Given the description of an element on the screen output the (x, y) to click on. 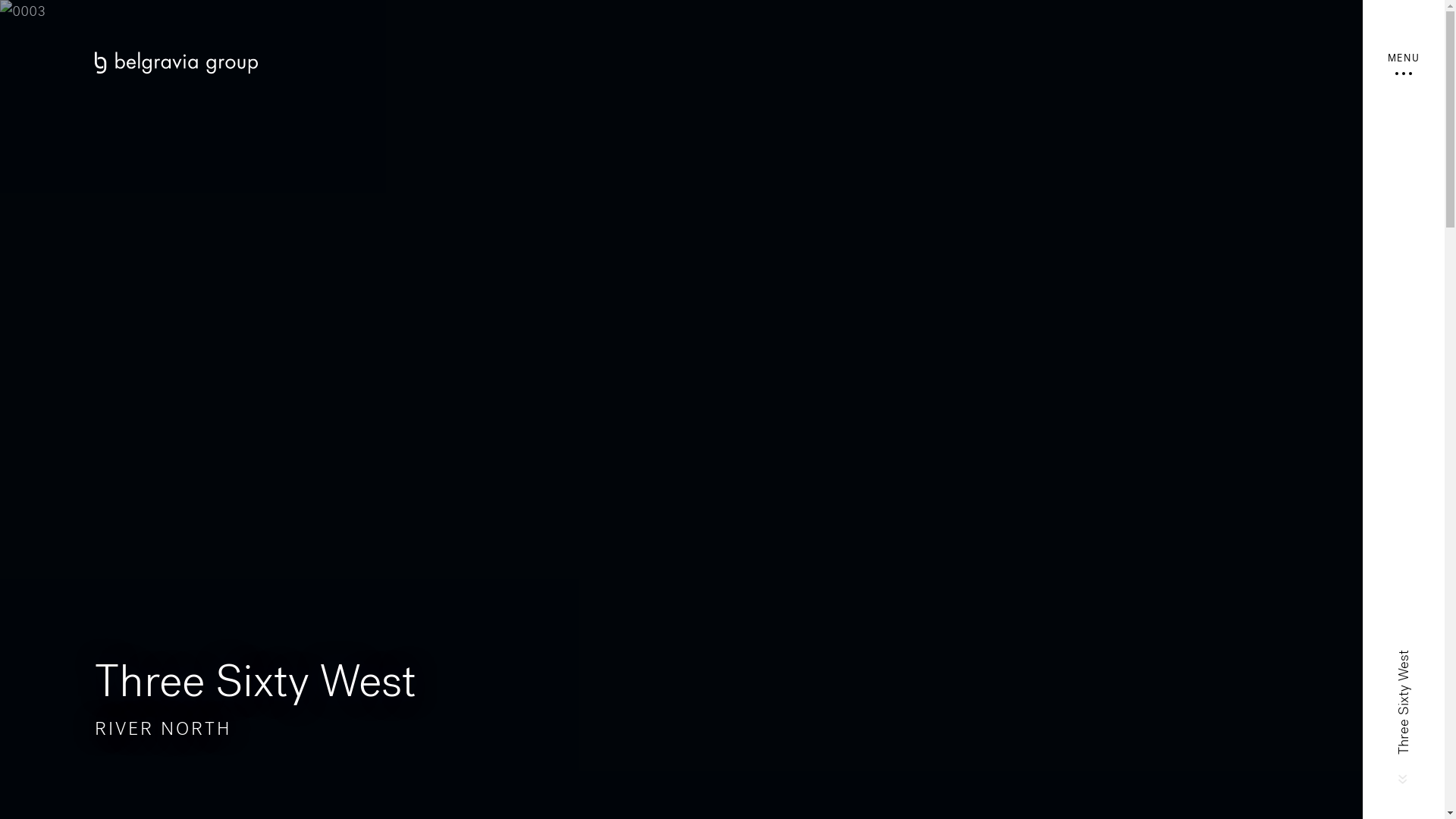
SIGN UP Element type: text (786, 585)
TERMS OF USE Element type: text (499, 767)
DISCLAIMER Element type: text (315, 767)
Home Element type: hover (545, 62)
GET IN TOUCH Element type: text (472, 585)
Instagram Element type: hover (133, 723)
Live Happier Element type: text (856, 759)
Facebook Element type: hover (98, 723)
PRIVACY POLICY Element type: text (404, 767)
MENU Element type: text (1403, 63)
Linkedin Element type: hover (167, 723)
